Given the description of an element on the screen output the (x, y) to click on. 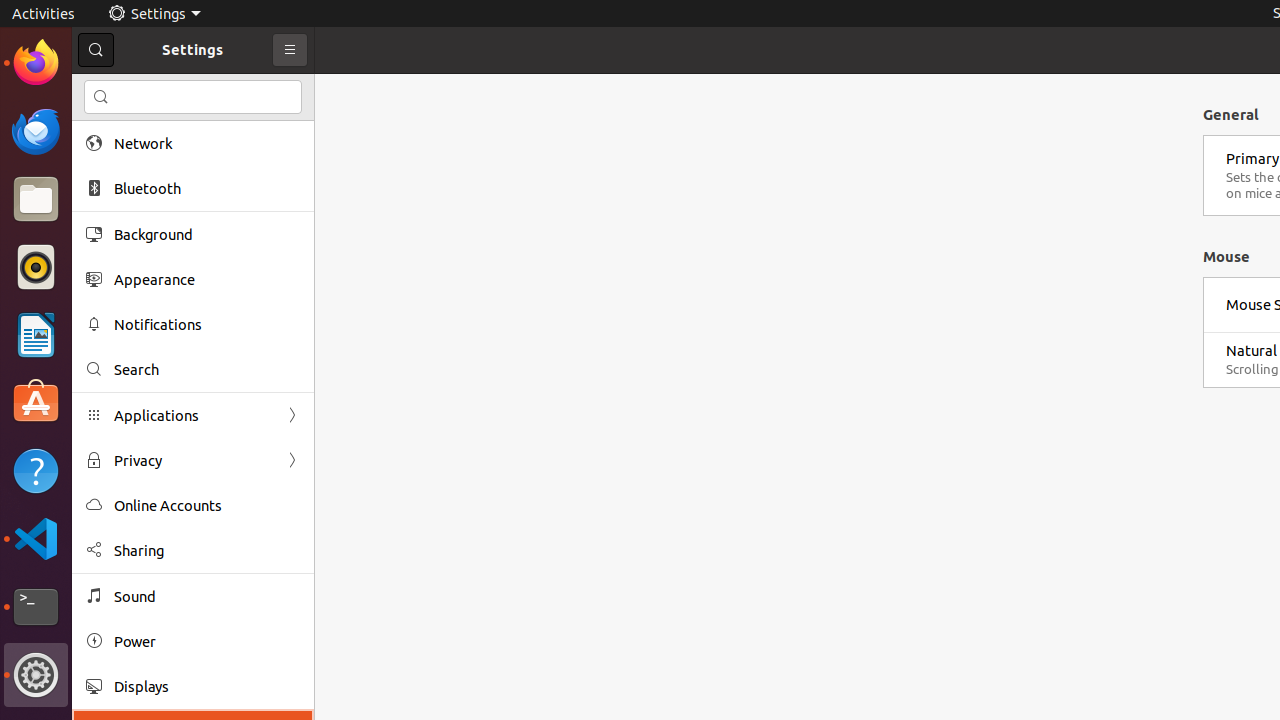
Activities Element type: label (43, 13)
Firefox Web Browser Element type: push-button (36, 63)
Mouse Element type: label (1226, 256)
luyi1 Element type: label (133, 89)
Settings Element type: menu (154, 13)
